Given the description of an element on the screen output the (x, y) to click on. 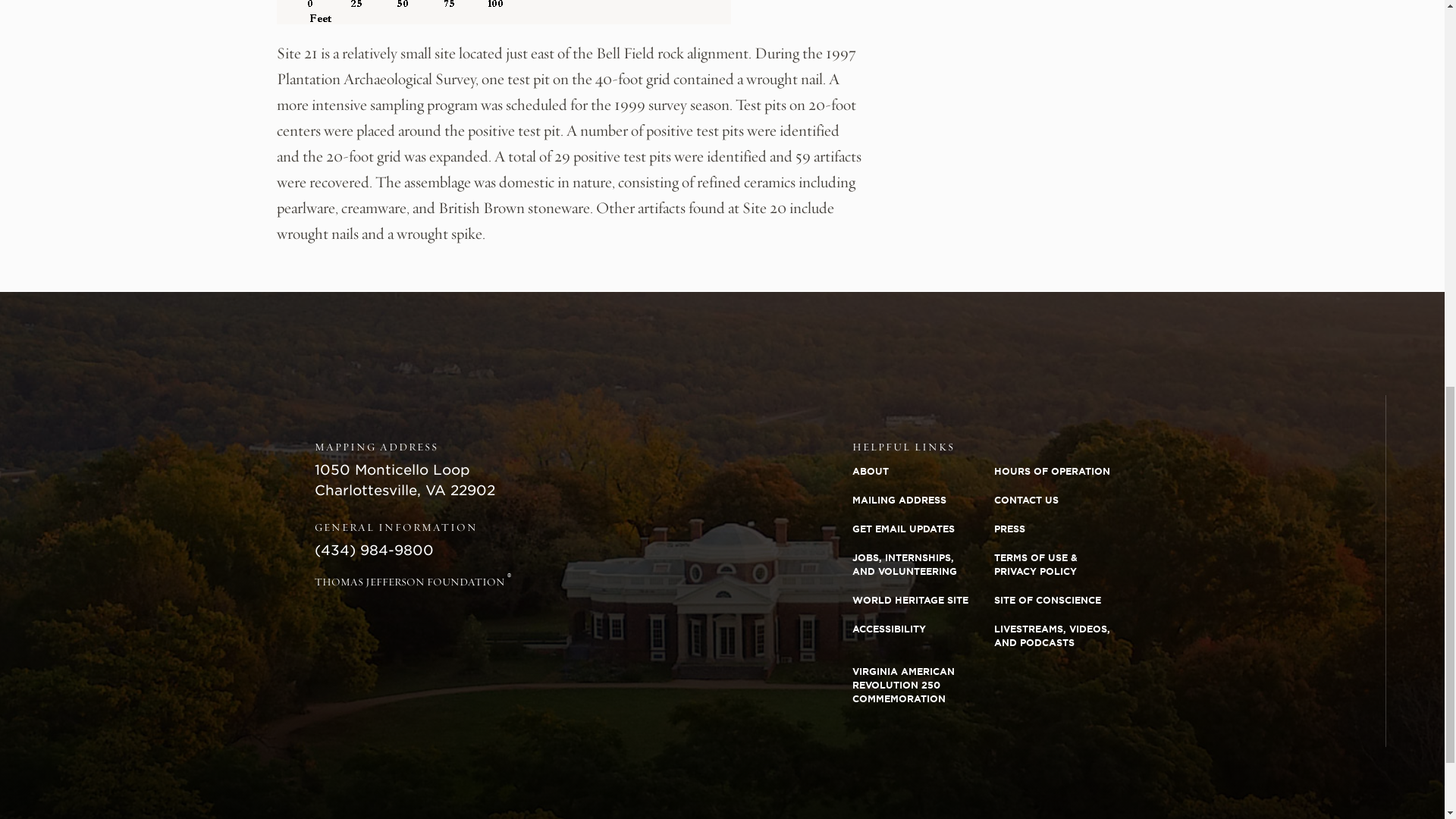
ABOUT (922, 471)
GET EMAIL UPDATES (922, 529)
WORLD HERITAGE SITE (922, 600)
CONTACT US (1064, 500)
MAILING ADDRESS (922, 500)
JOBS, INTERNSHIPS, AND VOLUNTEERING (922, 564)
HOURS OF OPERATION (1064, 471)
PRESS (1064, 529)
